Given the description of an element on the screen output the (x, y) to click on. 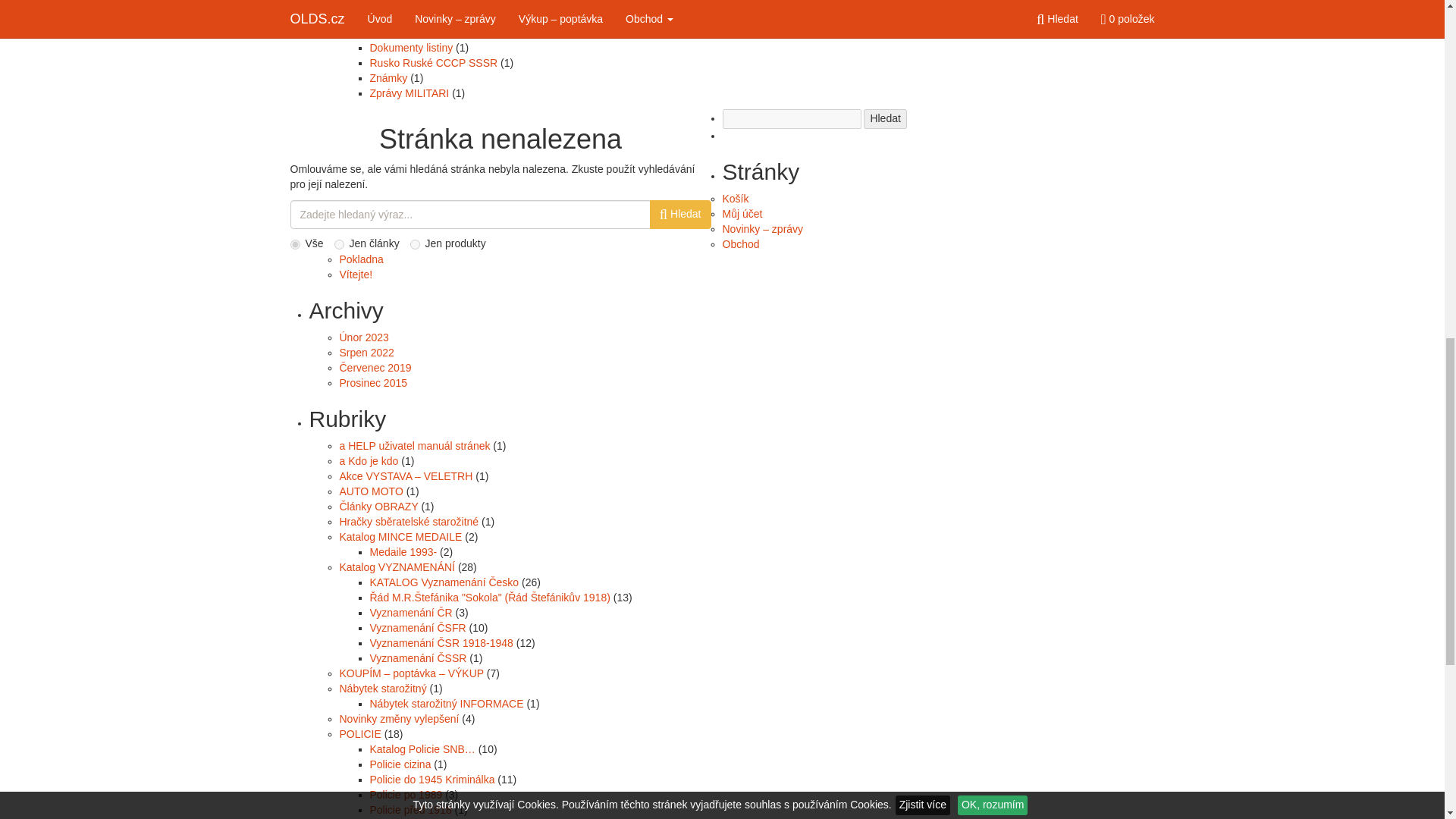
any (294, 244)
product (415, 244)
Hledat (884, 118)
post (338, 244)
